Given the description of an element on the screen output the (x, y) to click on. 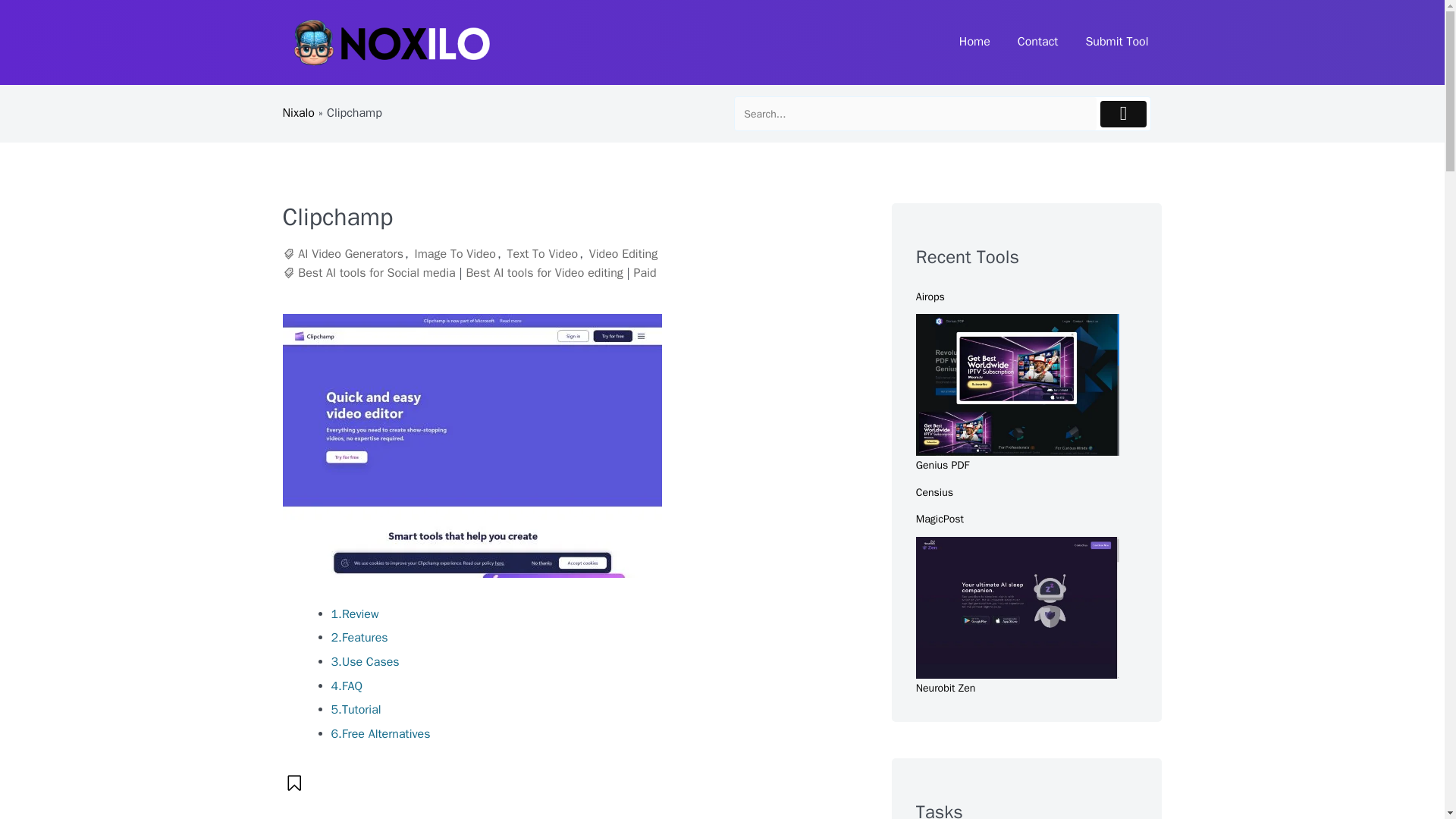
Best AI tools for Social media (376, 273)
Video Editing (623, 254)
Noxilo (314, 91)
5.Tutorial (355, 709)
2.Features (358, 637)
Image To Video (455, 254)
Home (974, 42)
Nixalo (298, 112)
1.Review (354, 613)
6.Free Alternatives (379, 734)
